Given the description of an element on the screen output the (x, y) to click on. 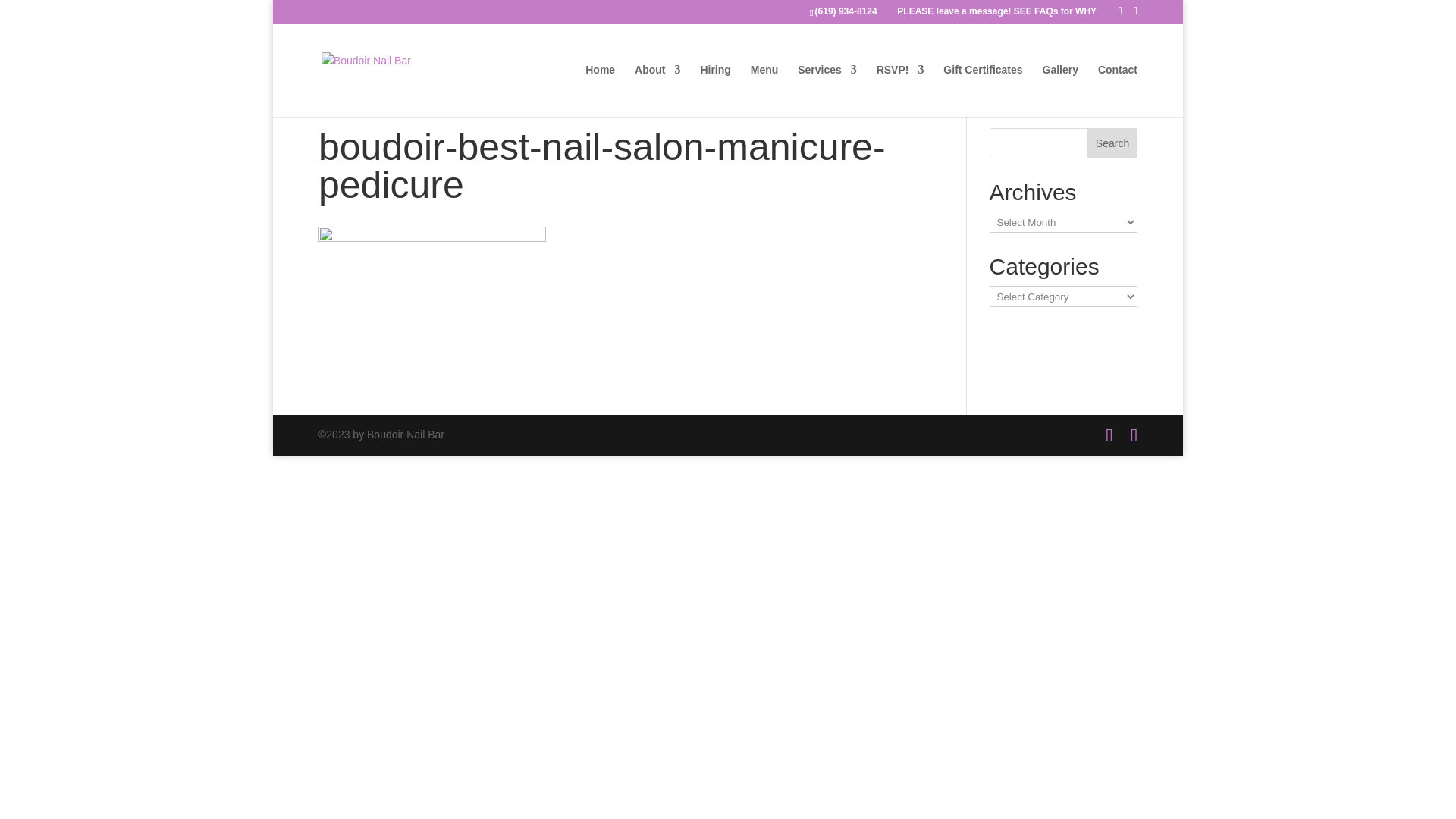
Gift Certificates (982, 90)
RSVP! (900, 90)
Search (1112, 142)
Services (827, 90)
Search (1112, 142)
